Given the description of an element on the screen output the (x, y) to click on. 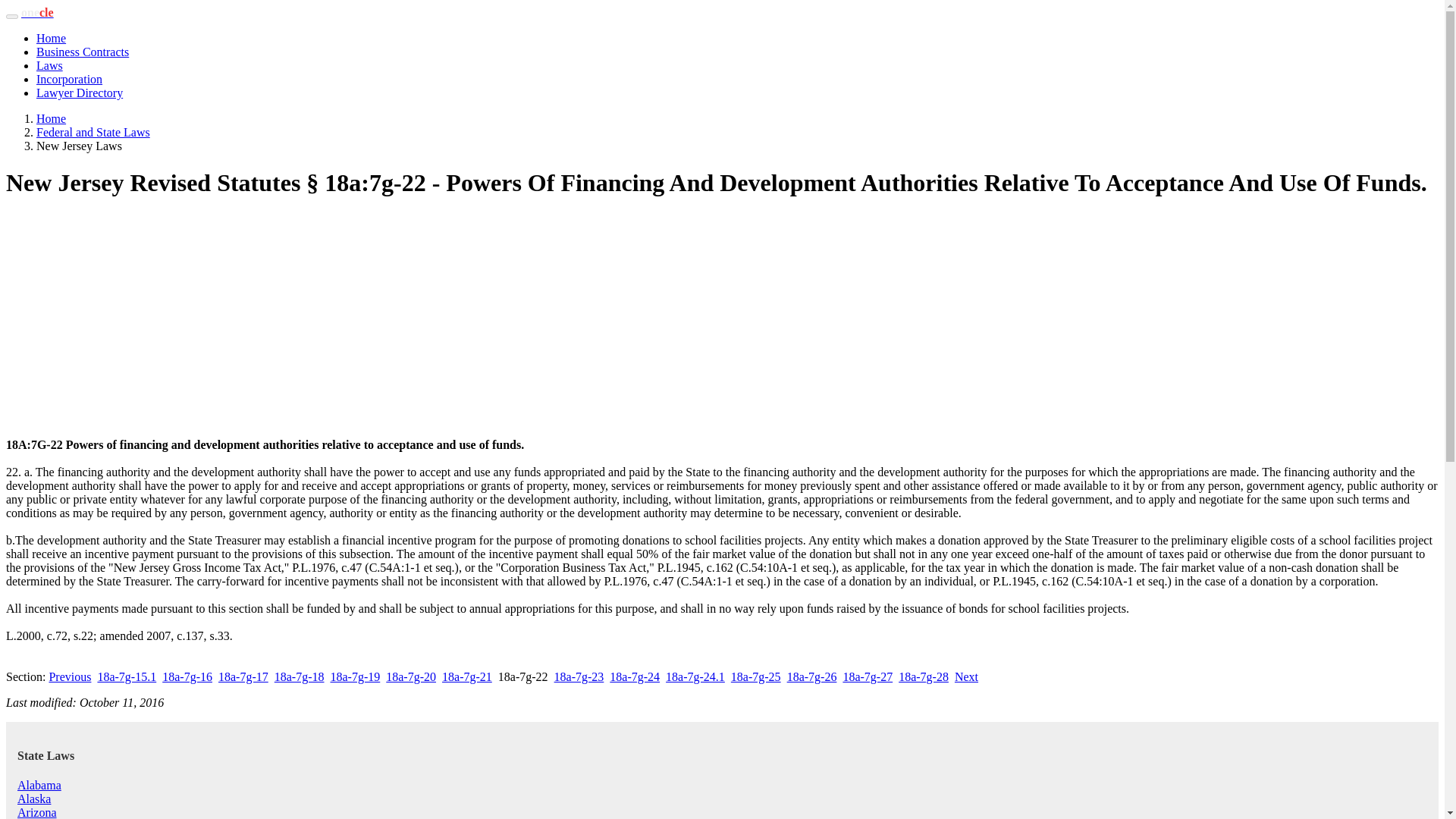
18a-7g-16 (186, 676)
18a-7g-17 (242, 676)
Previous (69, 676)
Arizona (36, 812)
Lawyer Directory (79, 92)
Home (50, 118)
18a-7g-26 (812, 676)
Alaska (33, 798)
18a-7g-21 (467, 676)
Federal and State Laws (92, 132)
18a-7g-27 (867, 676)
Laws (49, 65)
18a-7g-19 (355, 676)
18a-7g-15.1 (126, 676)
Incorporation (68, 78)
